Given the description of an element on the screen output the (x, y) to click on. 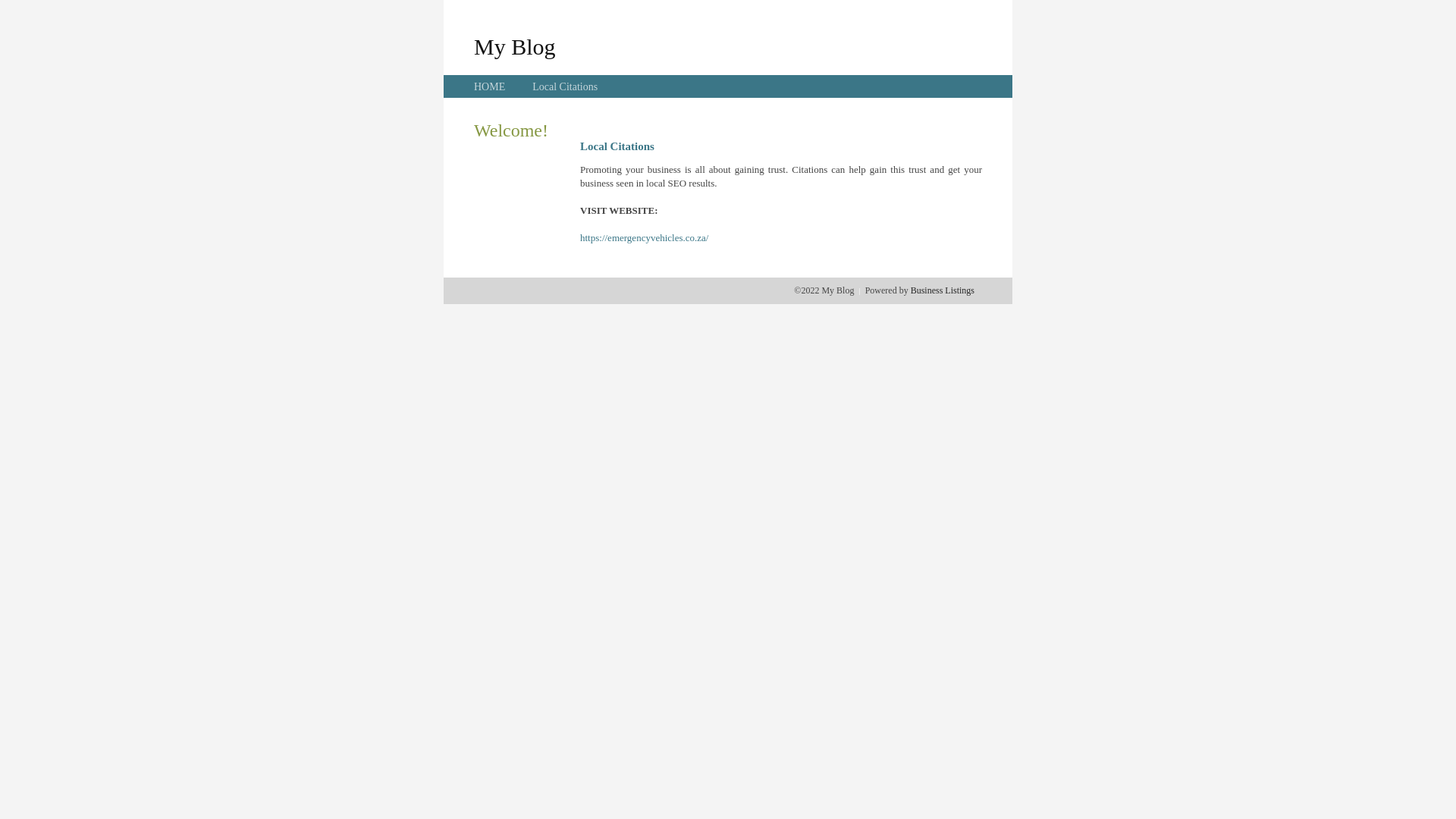
HOME Element type: text (489, 86)
My Blog Element type: text (514, 46)
Local Citations Element type: text (564, 86)
Business Listings Element type: text (942, 290)
https://emergencyvehicles.co.za/ Element type: text (644, 237)
